Given the description of an element on the screen output the (x, y) to click on. 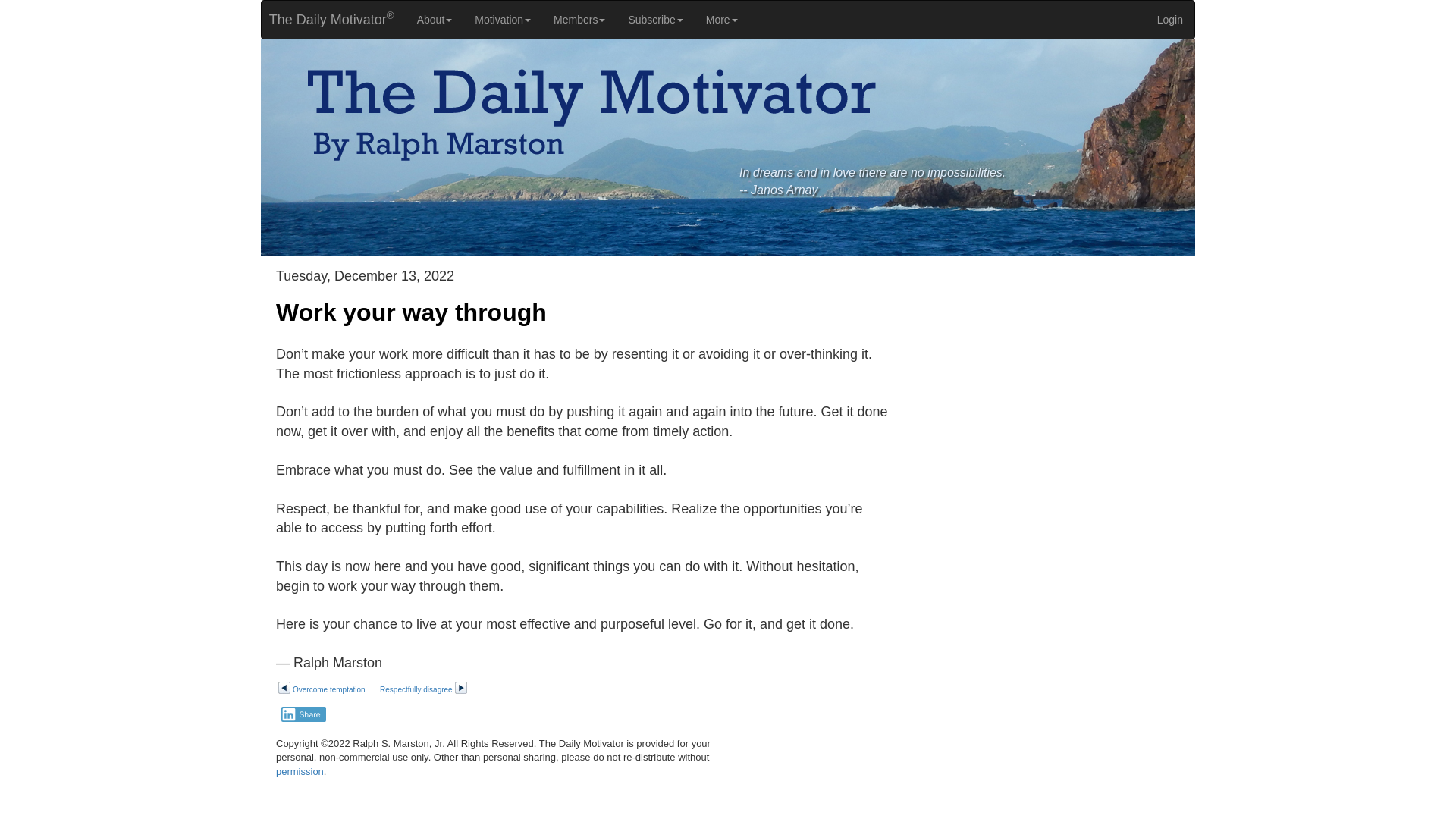
Motivation (502, 19)
About (435, 19)
Members (578, 19)
Subscribe (654, 19)
